Given the description of an element on the screen output the (x, y) to click on. 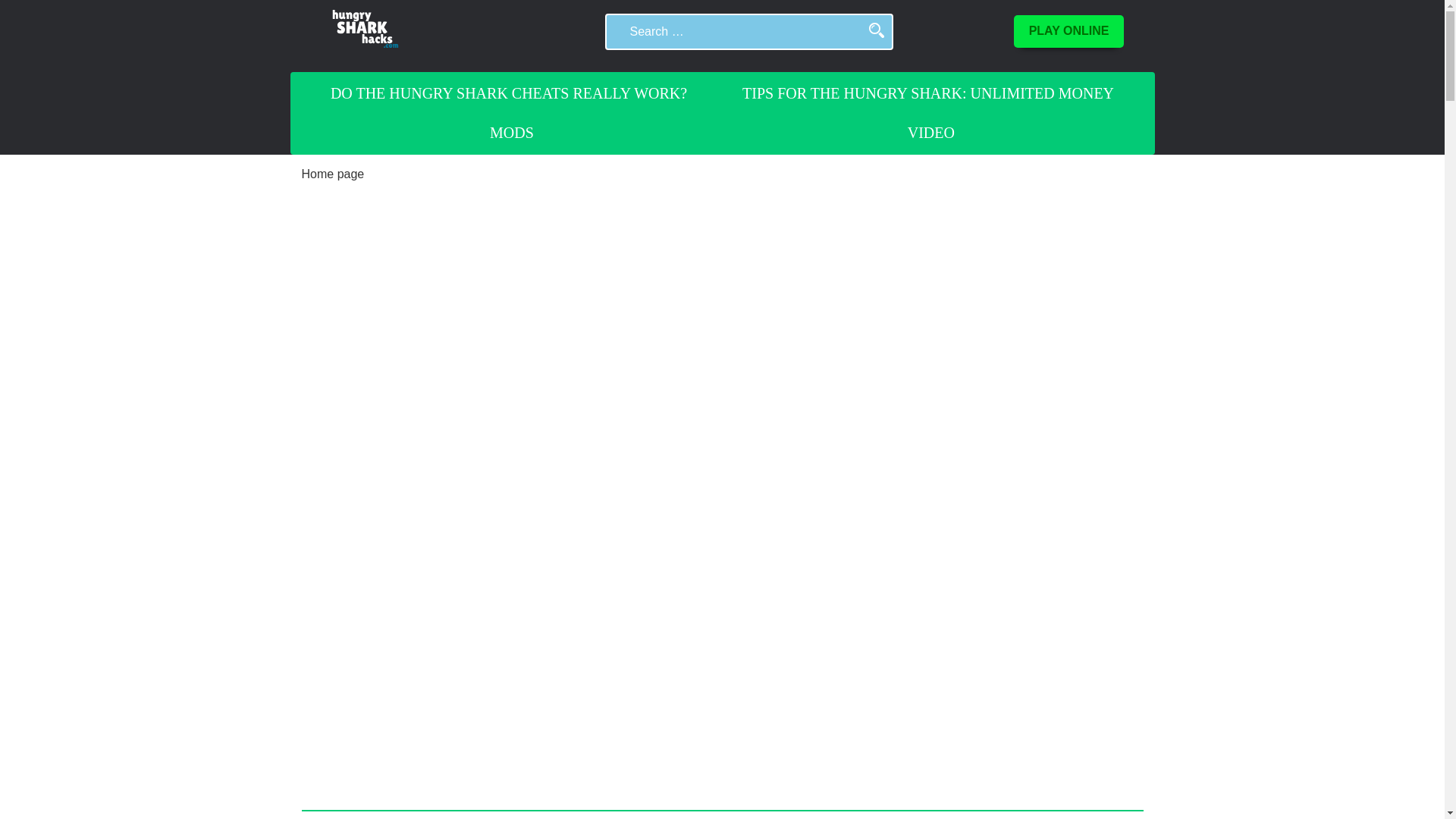
PLAY ONLINE (1068, 30)
TIPS FOR THE HUNGRY SHARK: UNLIMITED MONEY (927, 93)
Play Hungry Shark Online (1068, 30)
DO THE HUNGRY SHARK CHEATS REALLY WORK? (508, 93)
VIDEO (931, 132)
MODS (511, 132)
Home page (333, 173)
